Given the description of an element on the screen output the (x, y) to click on. 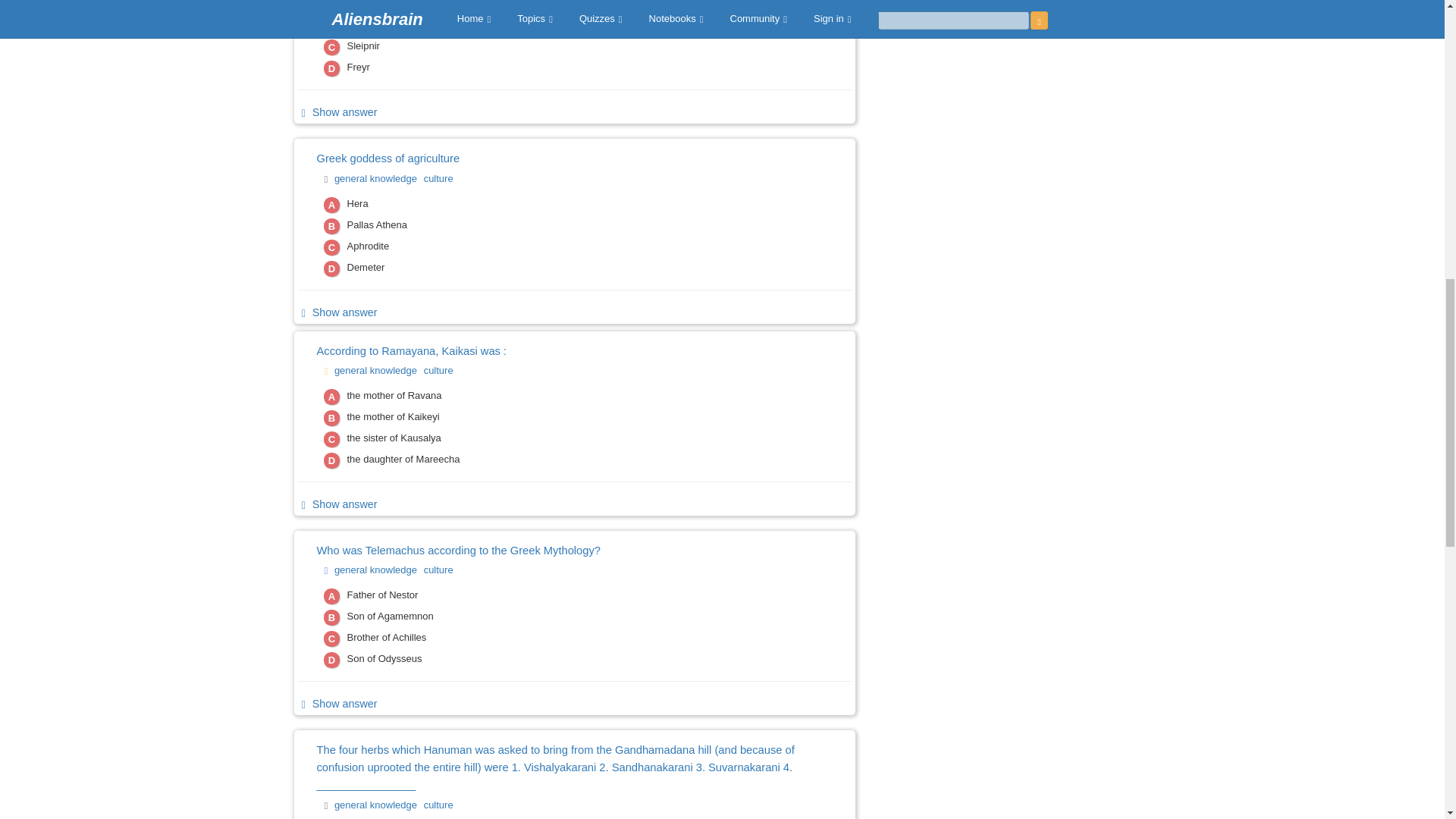
According to Ramayana, Kaikasi was : (550, 351)
Greek goddess of agriculture (550, 158)
general knowledge (377, 370)
Who was Telemachus according to the Greek Mythology? (550, 550)
Show answer (337, 312)
Show answer (337, 503)
Show answer (337, 703)
culture (440, 370)
culture (440, 569)
general knowledge (377, 569)
general knowledge (377, 178)
culture (440, 178)
Show answer (337, 111)
